Given the description of an element on the screen output the (x, y) to click on. 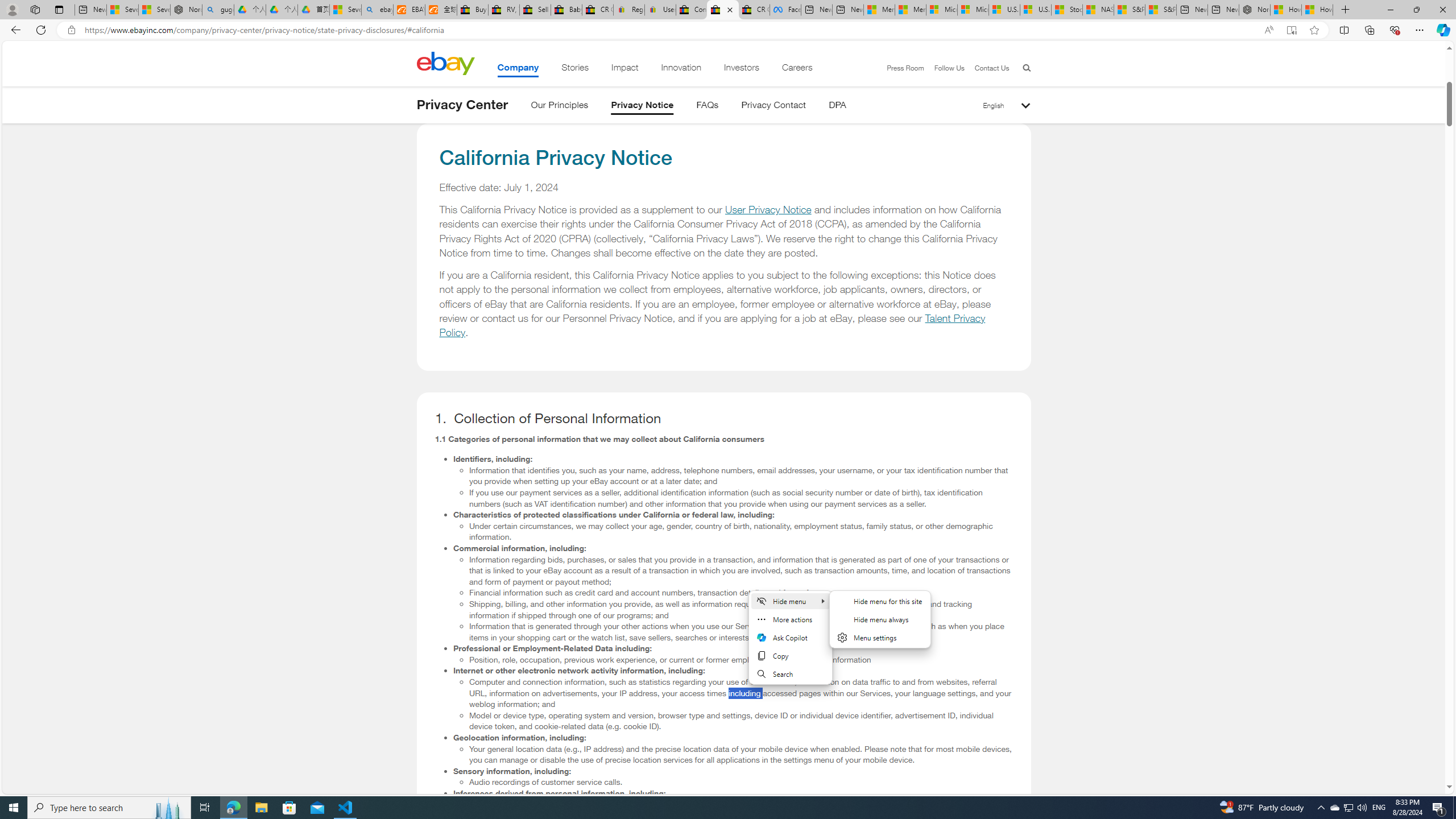
Ask Copilot (789, 637)
Sell worldwide with eBay (535, 9)
FAQs (707, 107)
Register: Create a personal eBay account (628, 9)
Consumer Health Data Privacy Policy - eBay Inc. (691, 9)
